Given the description of an element on the screen output the (x, y) to click on. 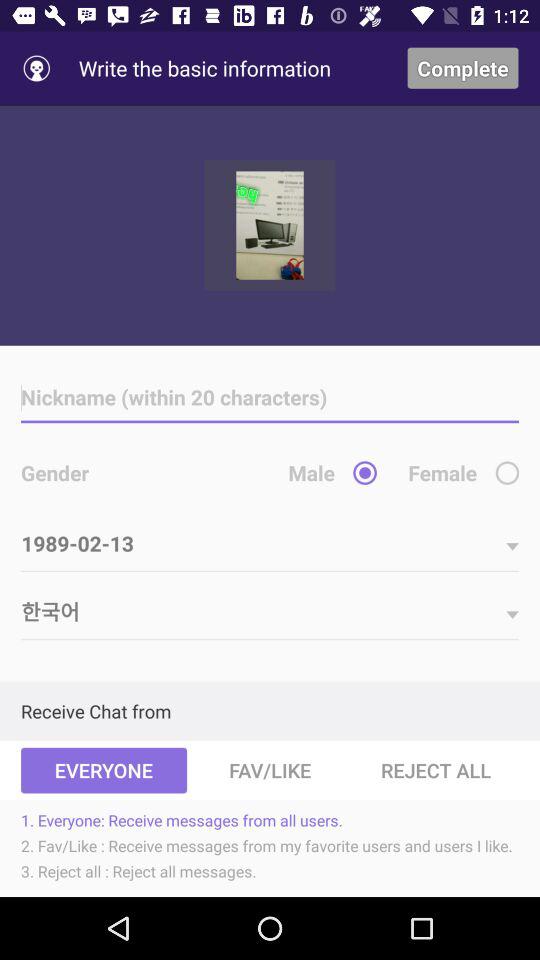
create a nickname on form (270, 398)
